Given the description of an element on the screen output the (x, y) to click on. 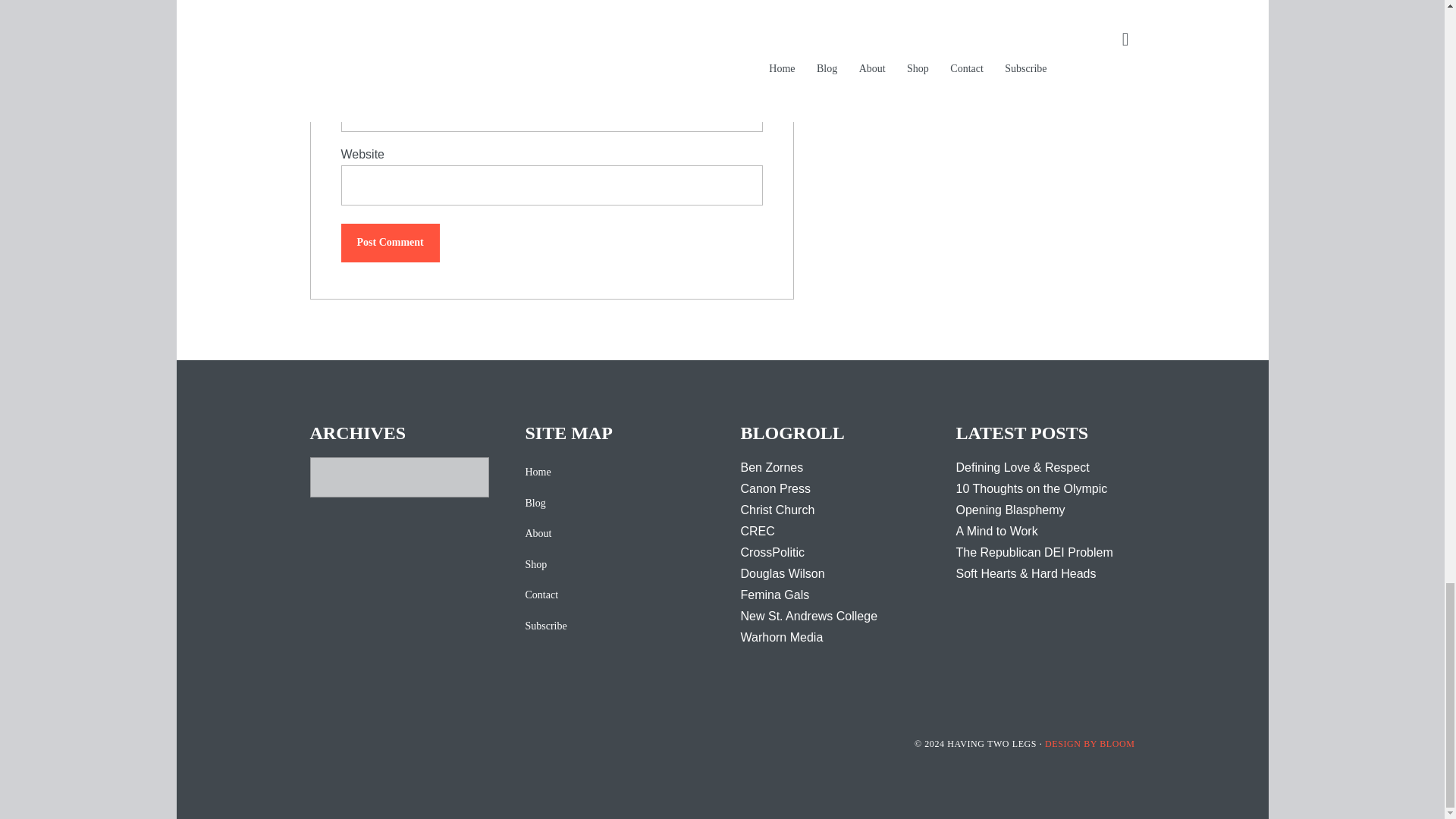
Post Comment (389, 242)
Post Comment (389, 242)
